Given the description of an element on the screen output the (x, y) to click on. 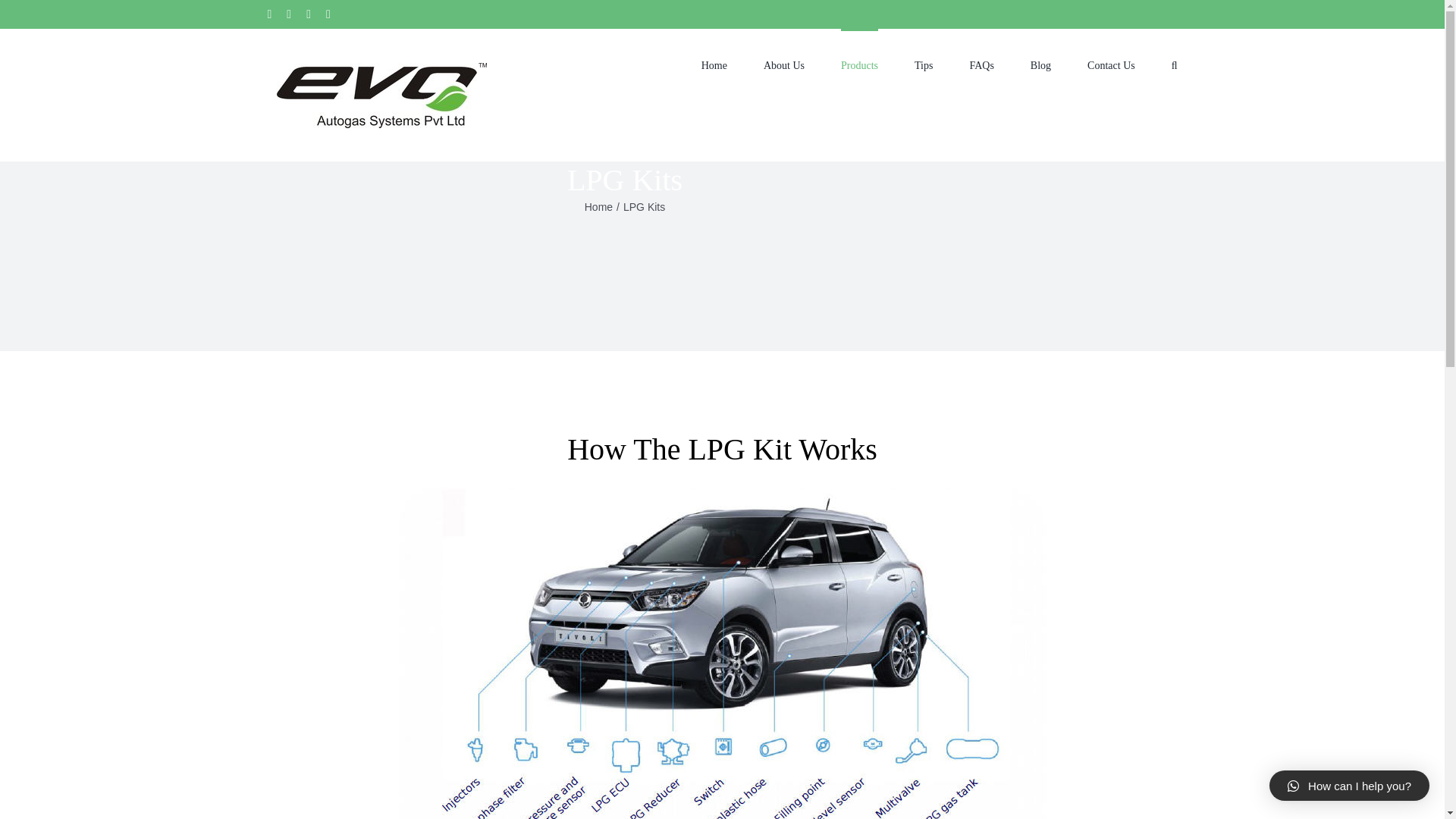
Home (598, 206)
